Given the description of an element on the screen output the (x, y) to click on. 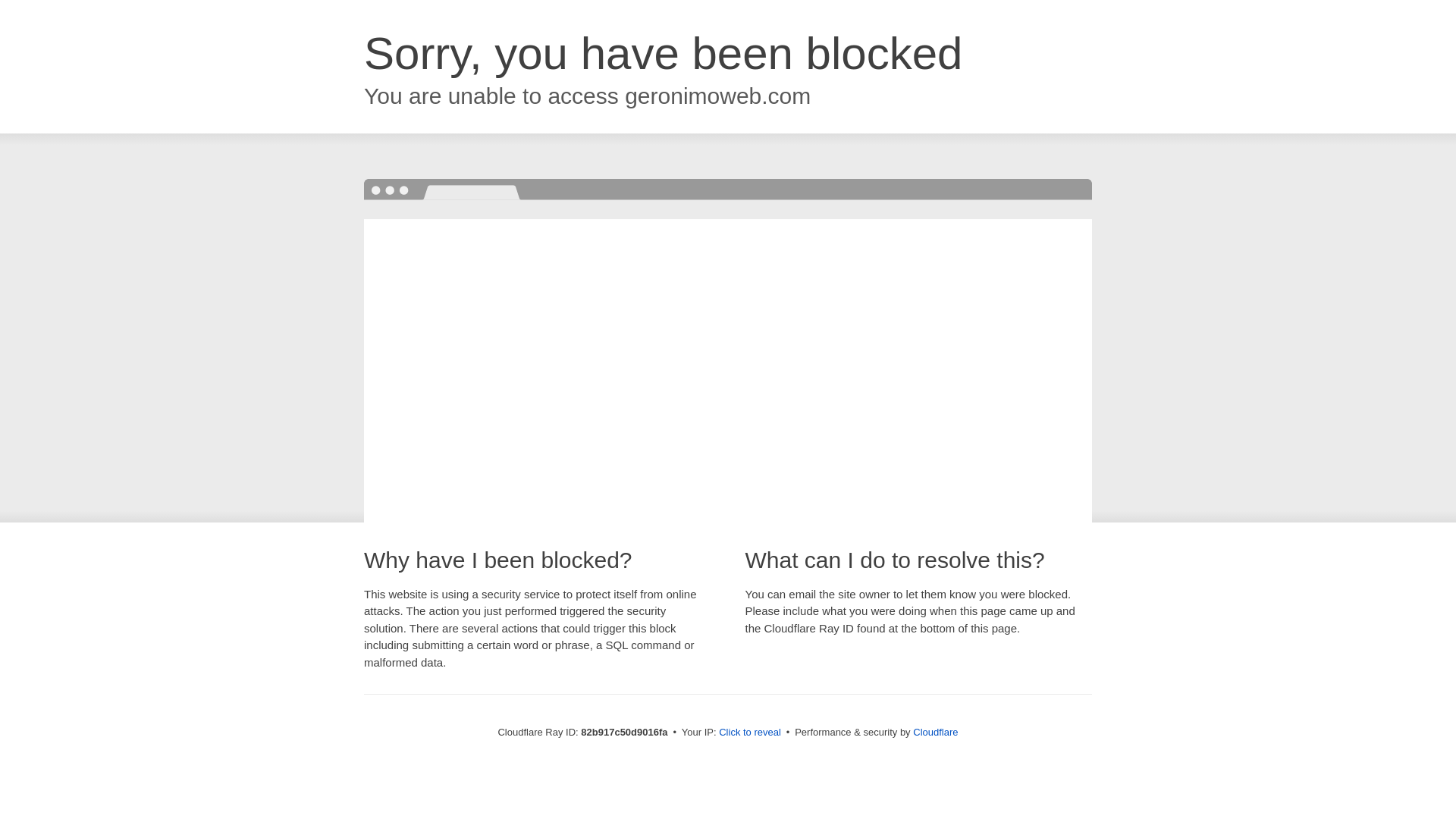
Click to reveal Element type: text (749, 732)
Cloudflare Element type: text (935, 731)
